Given the description of an element on the screen output the (x, y) to click on. 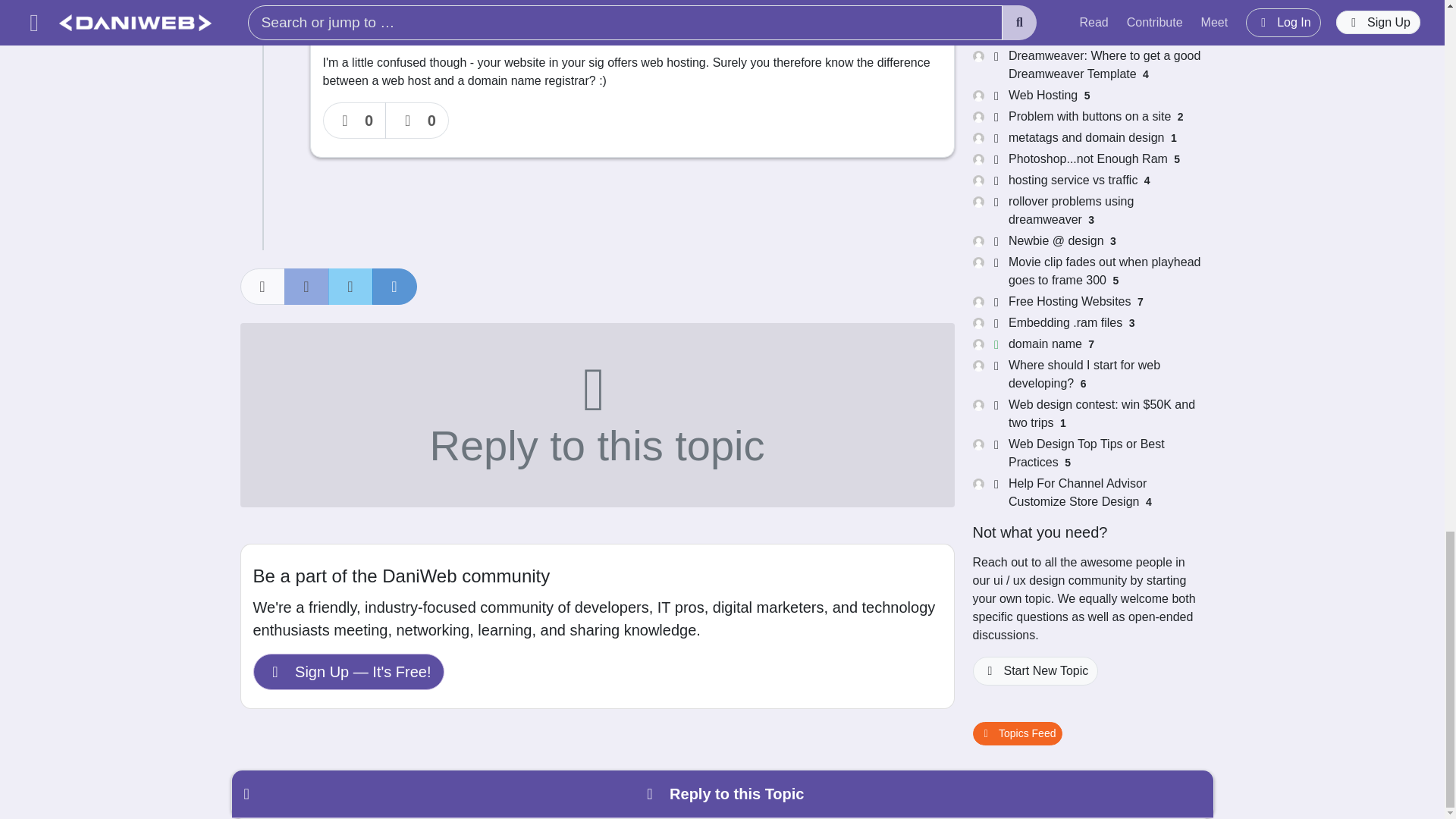
LinkedIn (393, 286)
Share (261, 286)
0 (416, 120)
Twitter (349, 286)
0 (355, 120)
Facebook (306, 286)
